Given the description of an element on the screen output the (x, y) to click on. 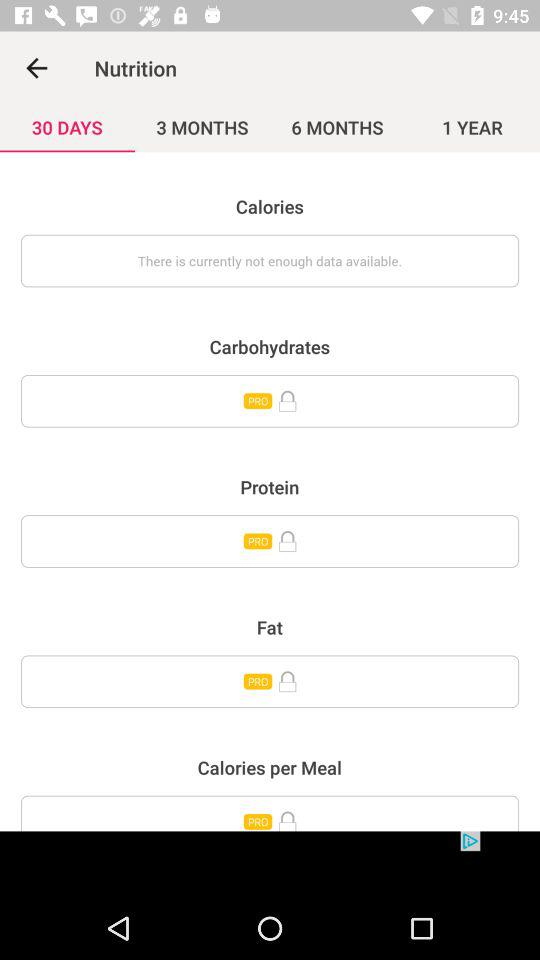
open item to the left of nutrition item (36, 68)
